Given the description of an element on the screen output the (x, y) to click on. 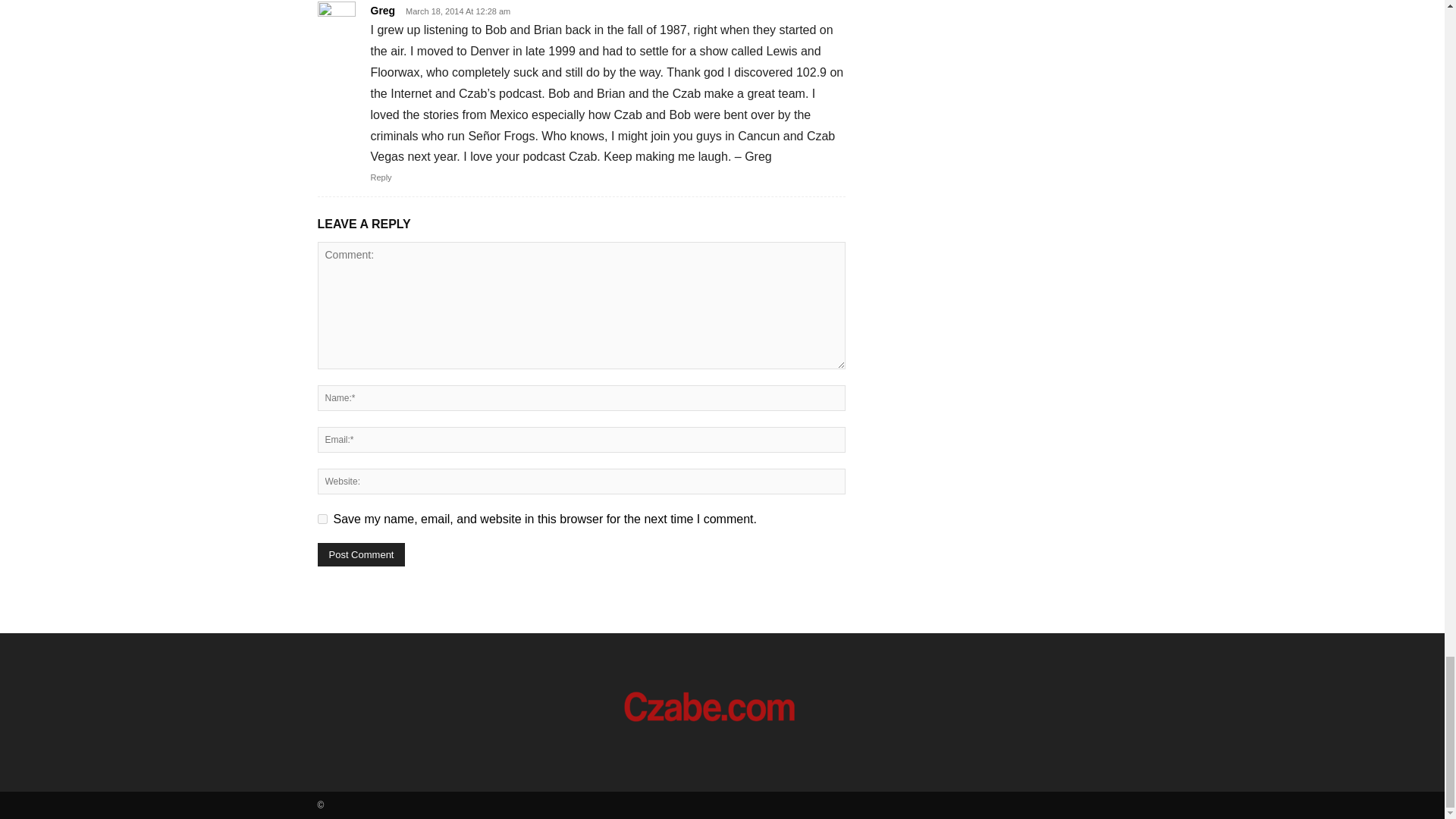
Post Comment (360, 554)
yes (321, 519)
